Given the description of an element on the screen output the (x, y) to click on. 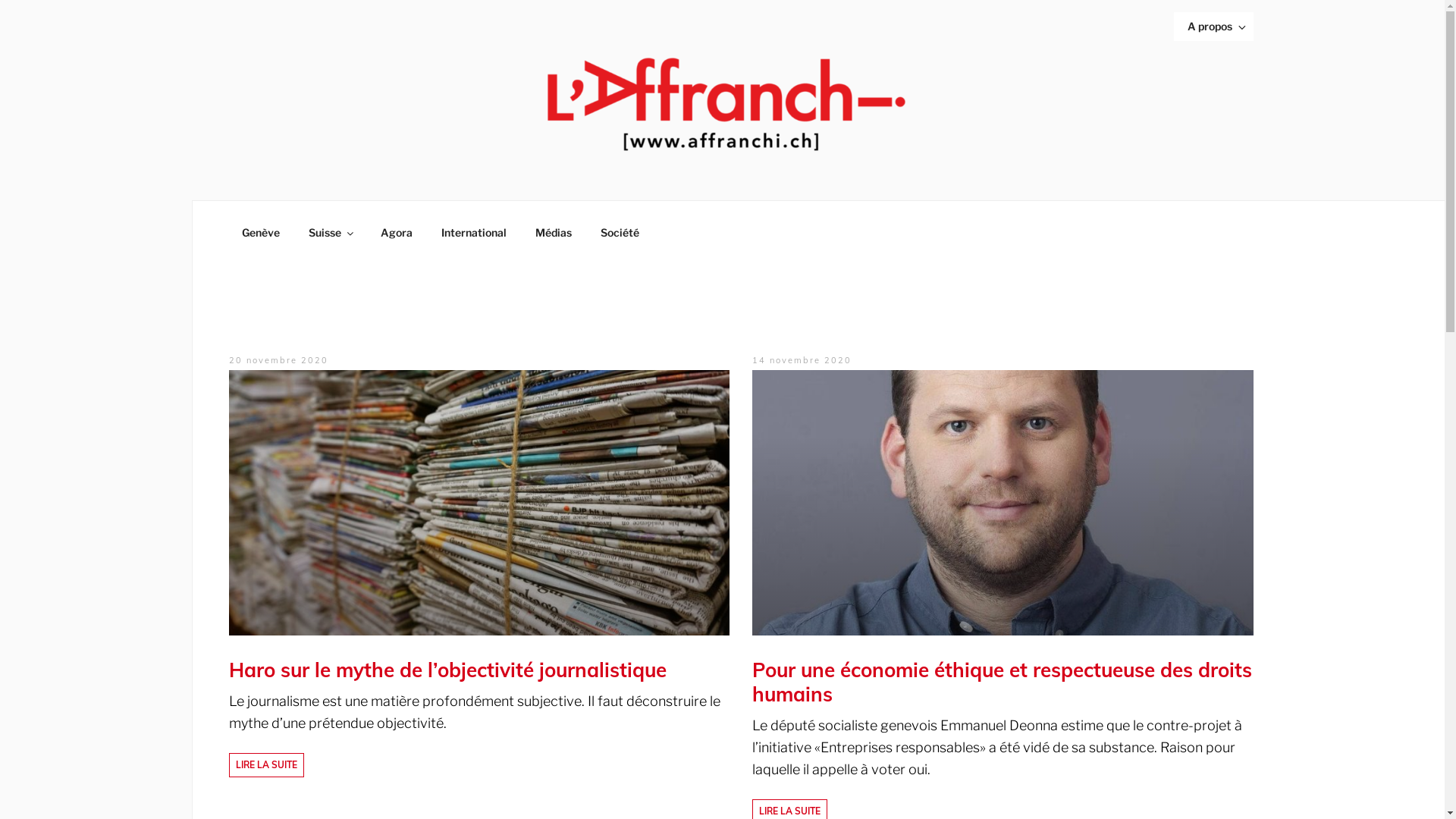
Agora Element type: text (396, 232)
A propos Element type: text (1213, 26)
L'AFFRANCHI Element type: text (103, 180)
Suisse Element type: text (330, 232)
International Element type: text (473, 232)
LIRE LA SUITE Element type: text (266, 765)
